Given the description of an element on the screen output the (x, y) to click on. 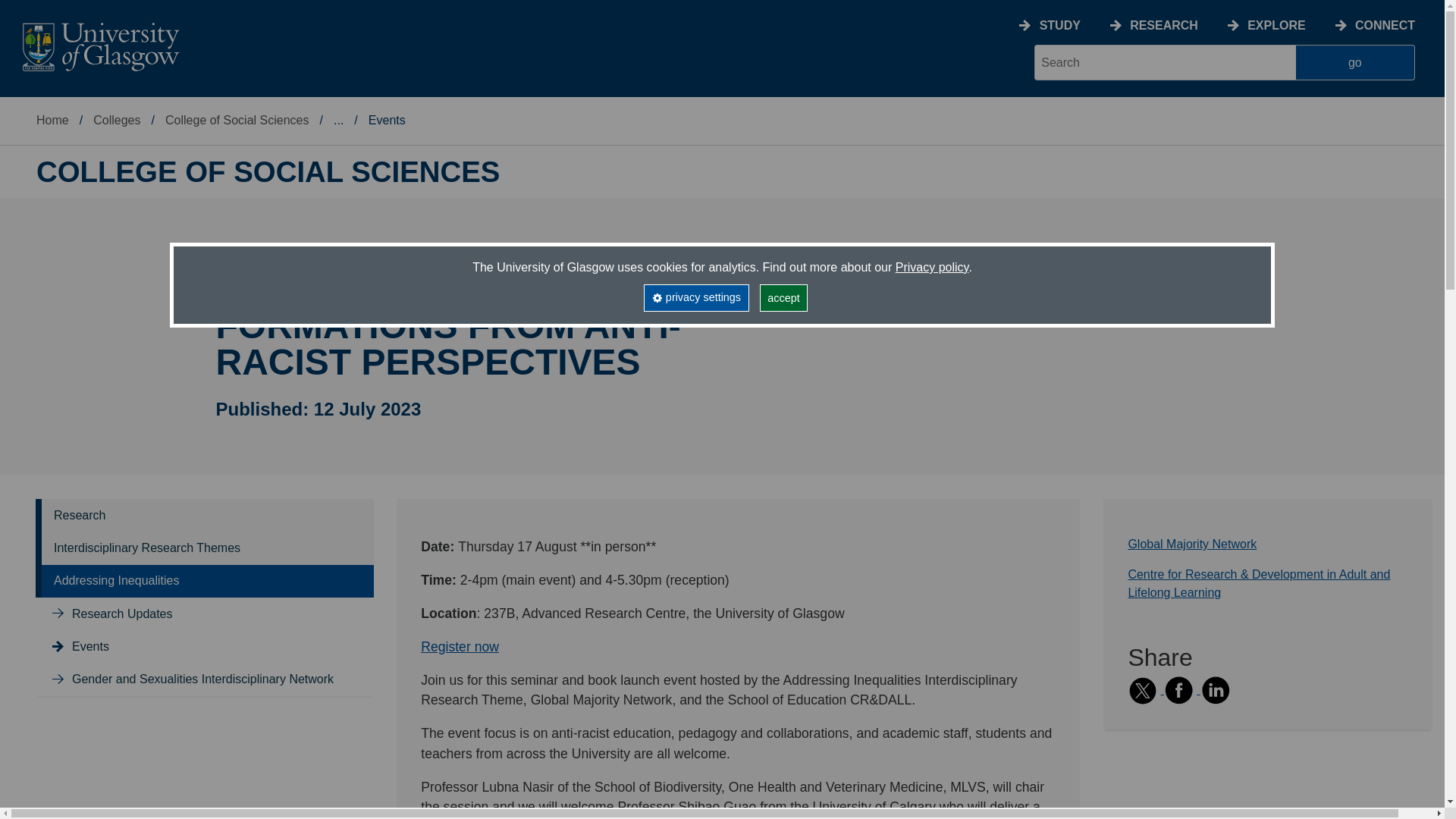
EXPLORE (1275, 24)
RESEARCH (1163, 24)
Home (52, 119)
Colleges (116, 119)
COLLEGE OF SOCIAL SCIENCES (267, 172)
submit (1355, 62)
Research Updates (122, 613)
STUDY (1059, 24)
search (1164, 62)
Gender and Sexualities Interdisciplinary Network (202, 678)
Events (90, 645)
College of Social Sciences (236, 119)
Addressing Inequalities (116, 580)
CONNECT (1385, 24)
accept (784, 298)
